Given the description of an element on the screen output the (x, y) to click on. 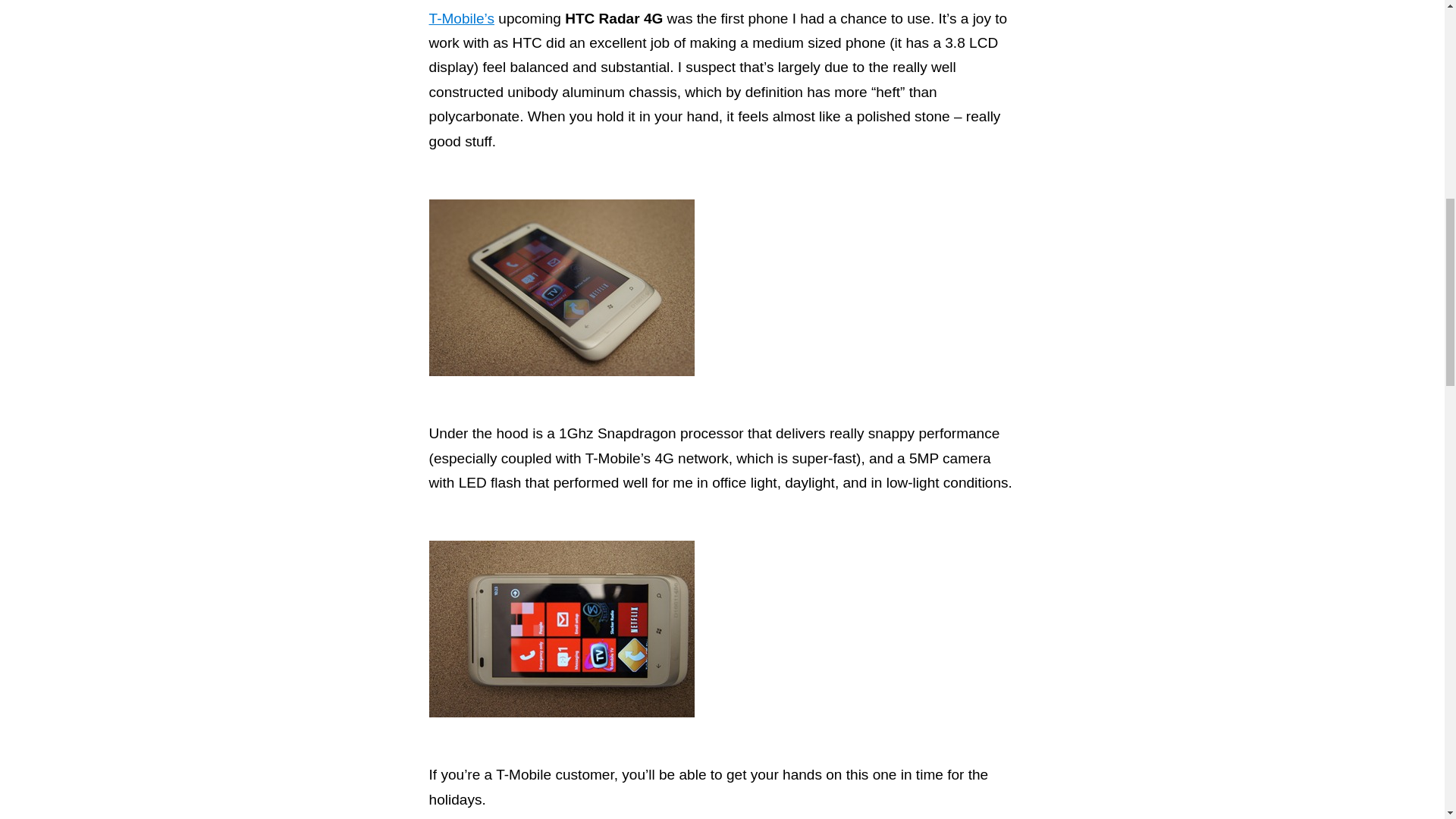
DSC00997 (561, 287)
DSC00998 (561, 628)
